Given the description of an element on the screen output the (x, y) to click on. 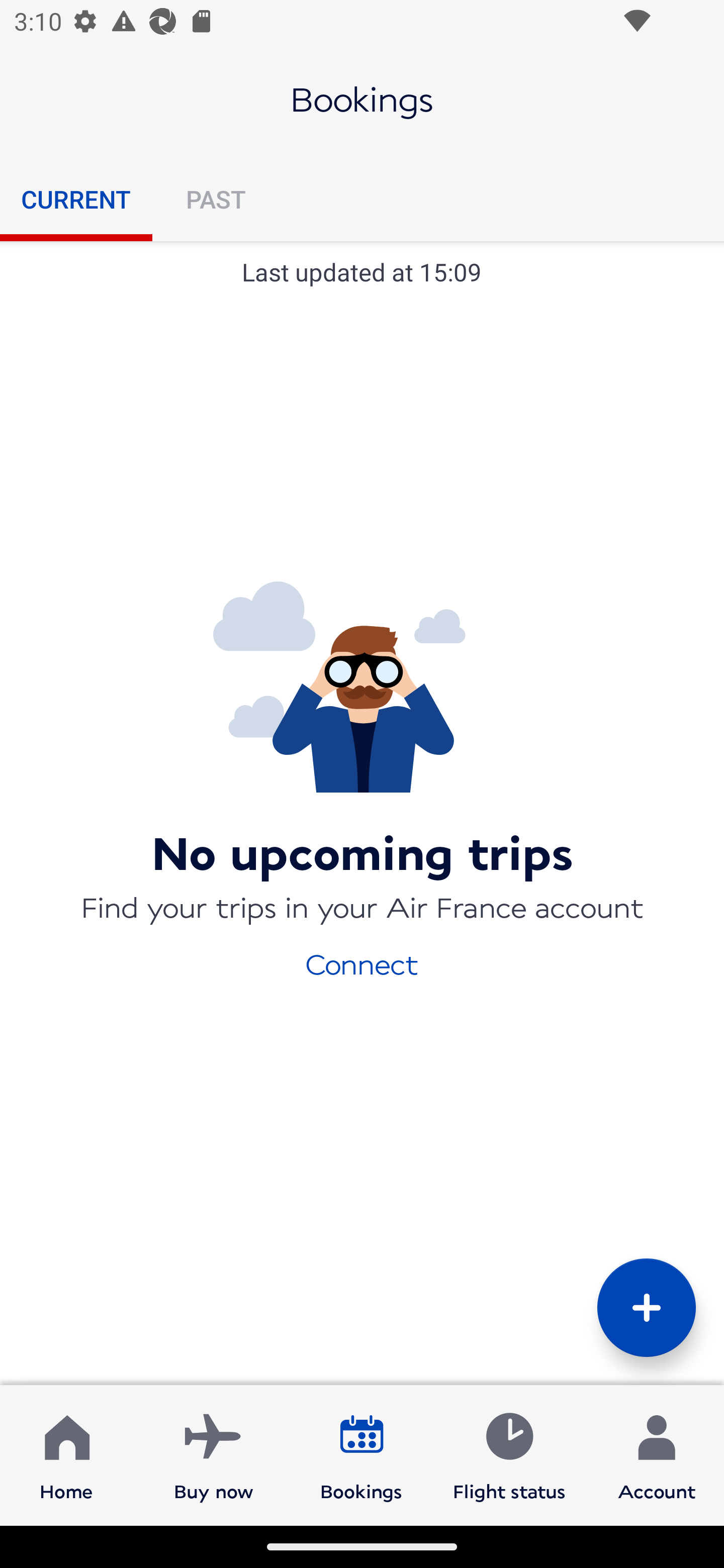
PAST (215, 198)
Connect (361, 963)
Home (66, 1454)
Buy now (213, 1454)
Flight status (509, 1454)
Account (657, 1454)
